Given the description of an element on the screen output the (x, y) to click on. 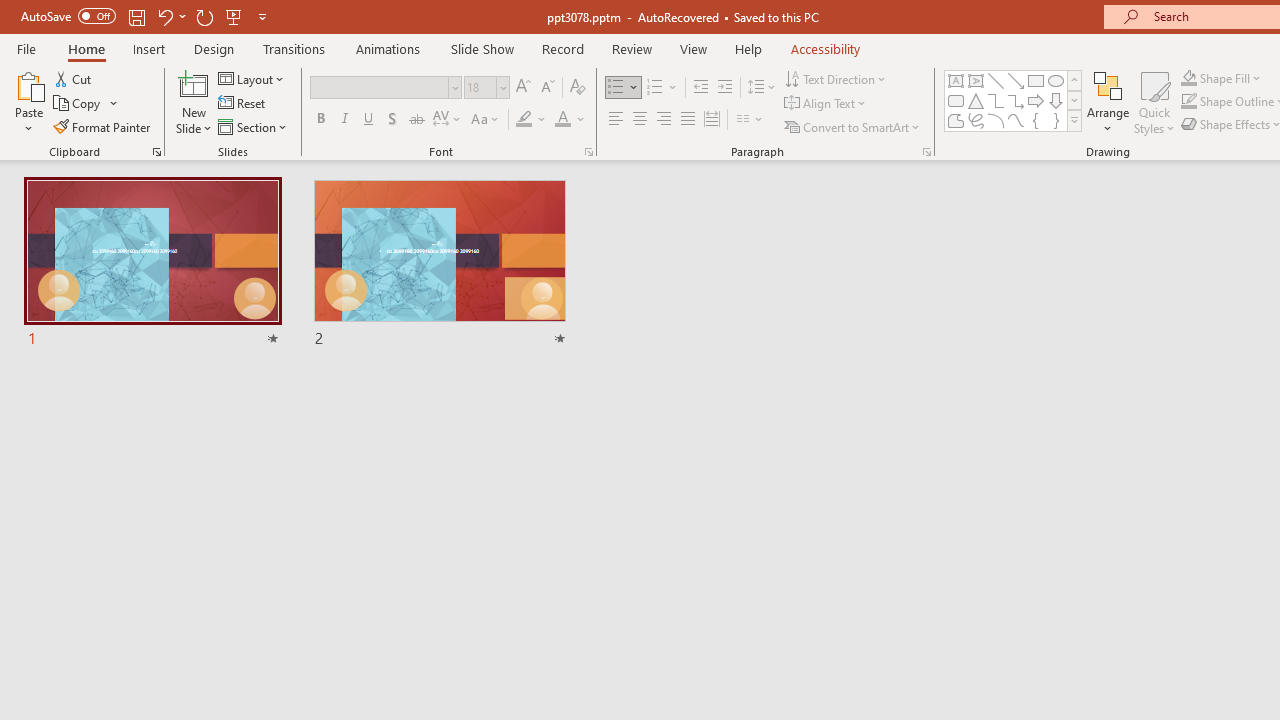
Clear Formatting (577, 87)
Text Highlight Color Yellow (524, 119)
Bold (320, 119)
Connector: Elbow Arrow (1016, 100)
Format Painter (103, 126)
Reset (243, 103)
